Given the description of an element on the screen output the (x, y) to click on. 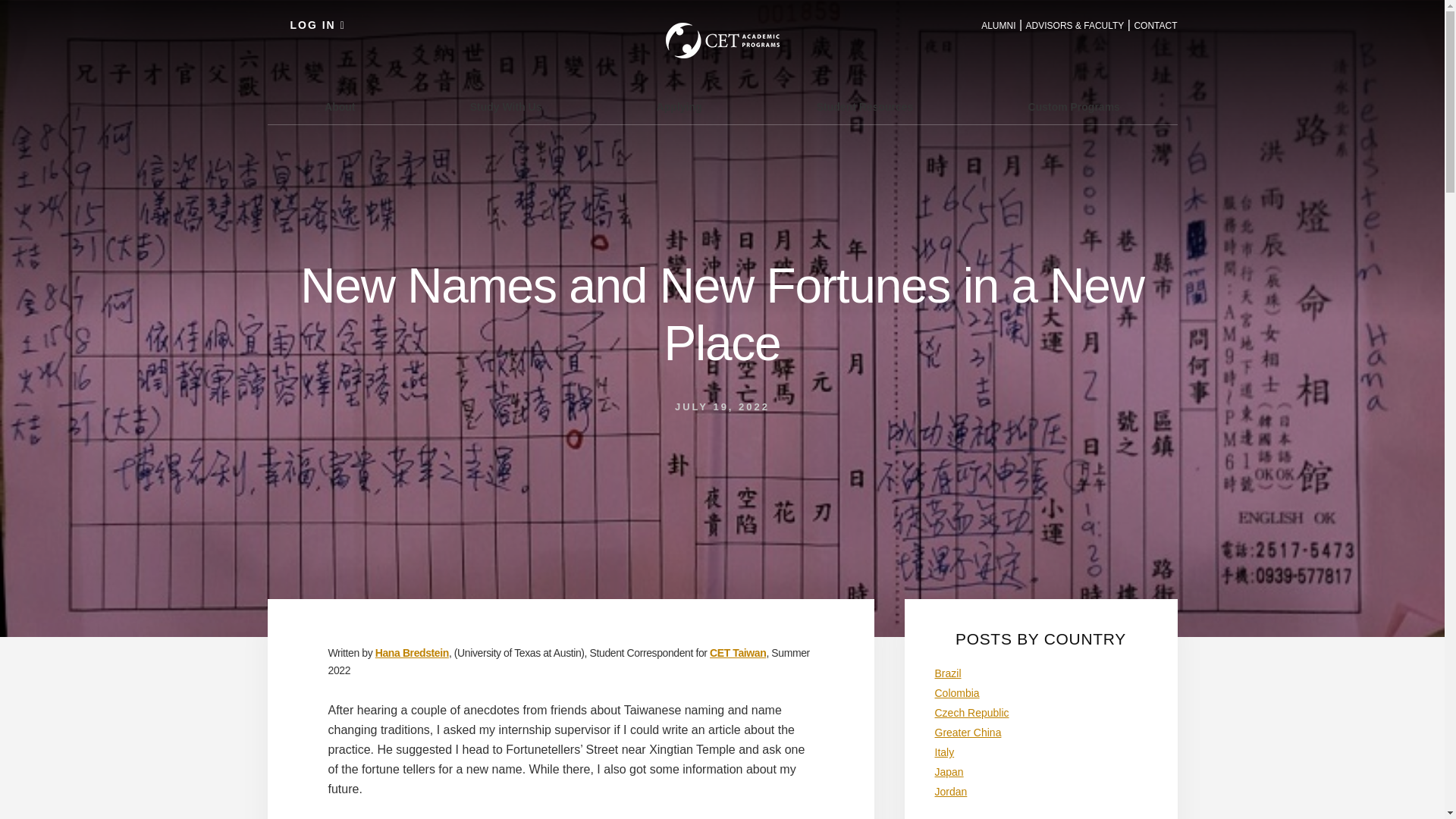
ALUMNI (997, 25)
LOG IN (317, 23)
About (339, 107)
CONTACT (1155, 25)
Study With Us (505, 107)
